Given the description of an element on the screen output the (x, y) to click on. 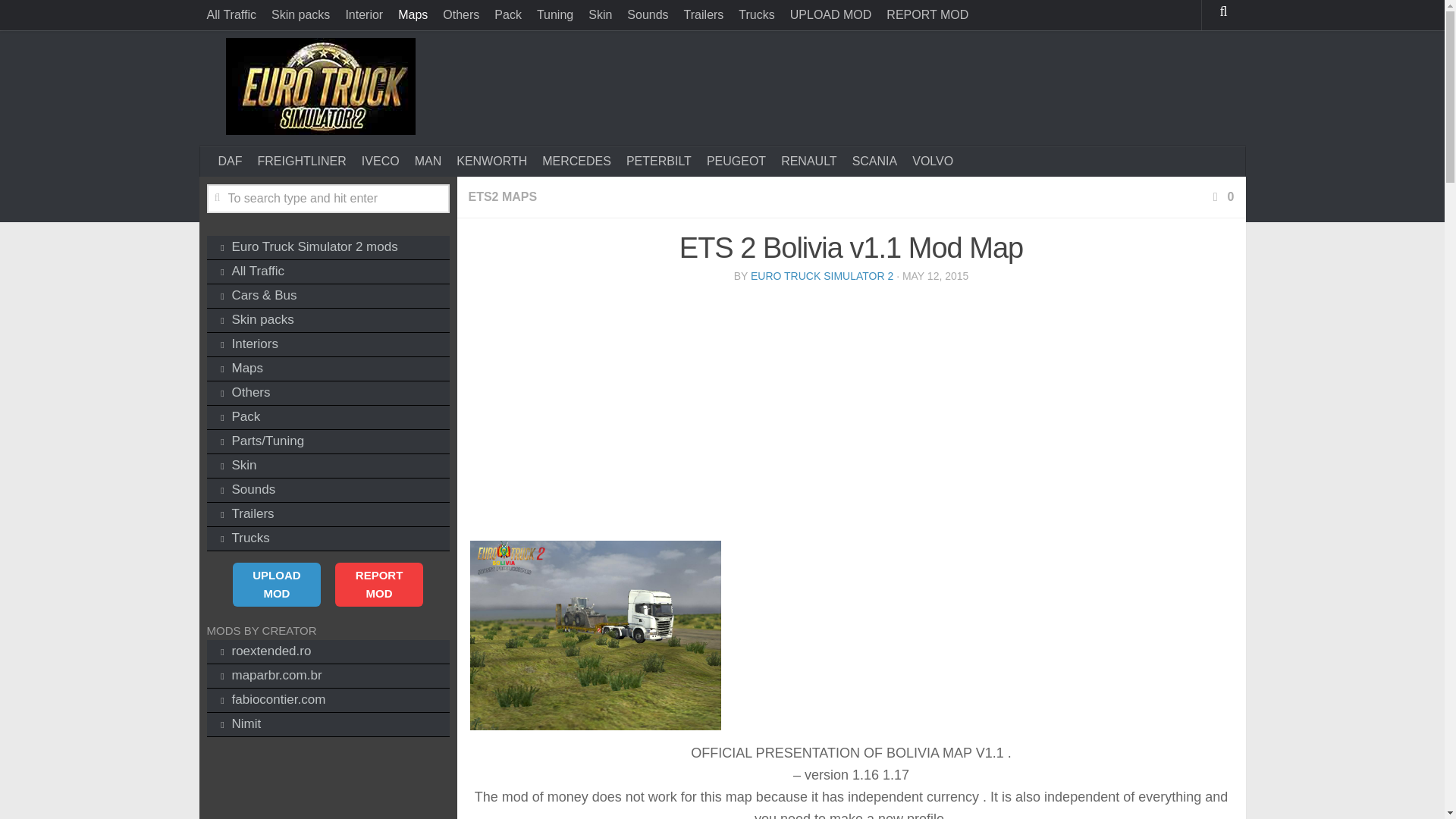
DAF (230, 161)
PEUGEOT (735, 161)
RENAULT (808, 161)
IVECO (380, 161)
To search type and hit enter (327, 198)
ets2 mods (327, 247)
Others (460, 15)
Maps (412, 15)
Trucks (755, 15)
PETERBILT (658, 161)
REPORT MOD (927, 15)
MERCEDES (576, 161)
SCANIA (874, 161)
Skin packs (300, 15)
KENWORTH (491, 161)
